Given the description of an element on the screen output the (x, y) to click on. 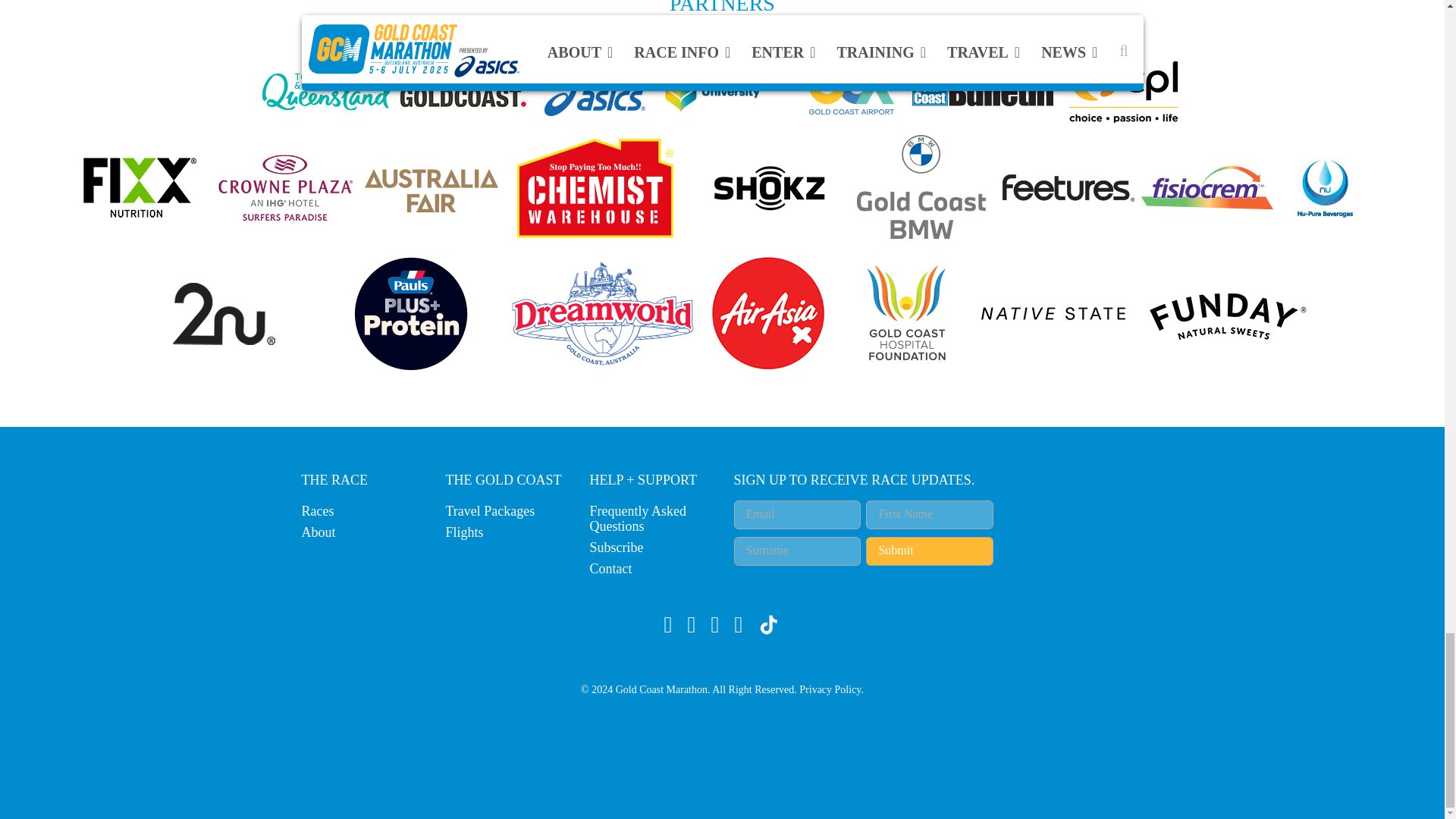
Email (797, 514)
Surname (797, 551)
First Name (929, 514)
Submit (929, 551)
